Given the description of an element on the screen output the (x, y) to click on. 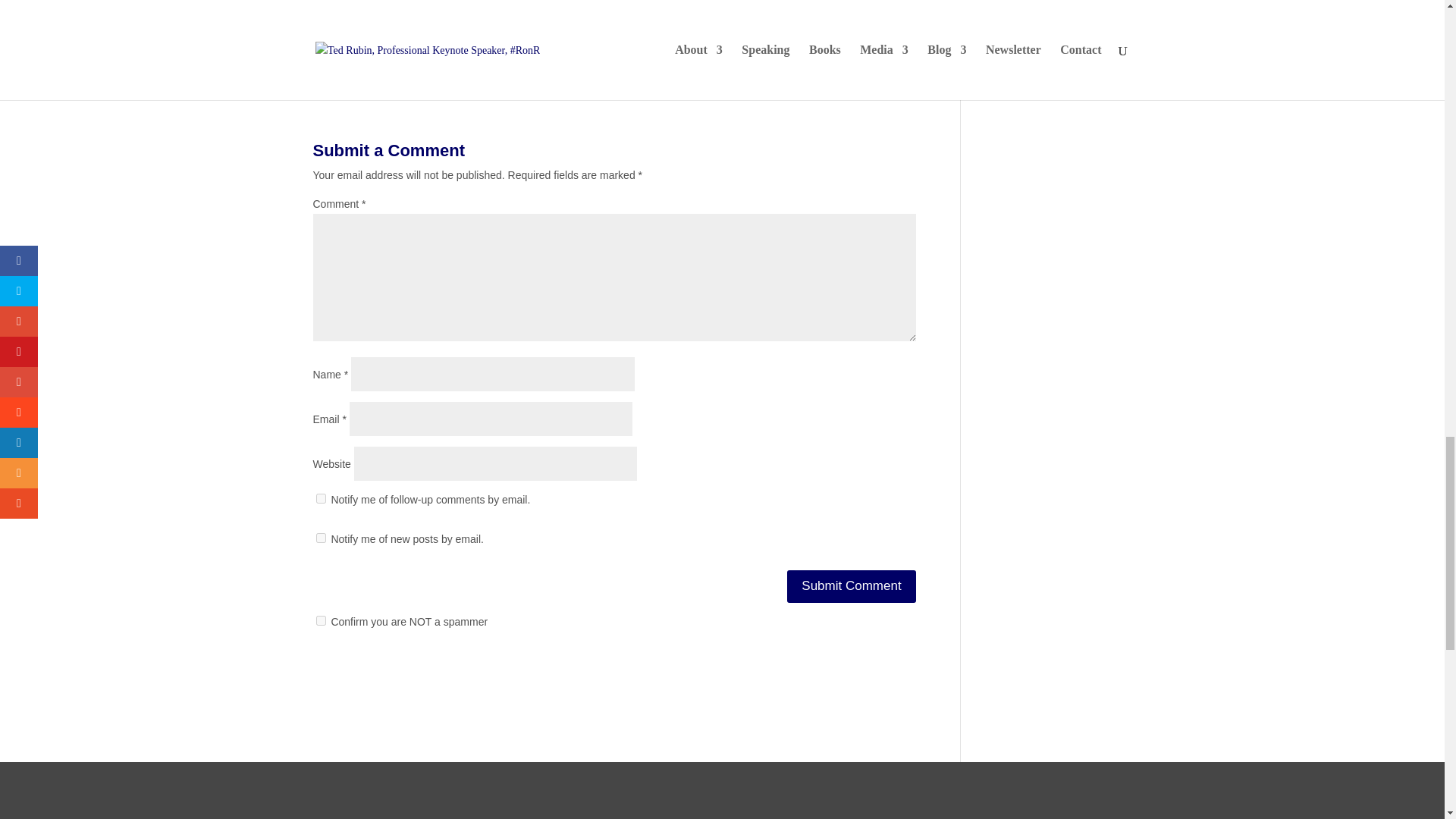
subscribe (319, 498)
Reply (901, 41)
Submit Comment (851, 586)
on (319, 620)
subscribe (319, 537)
Sourav (408, 36)
